Given the description of an element on the screen output the (x, y) to click on. 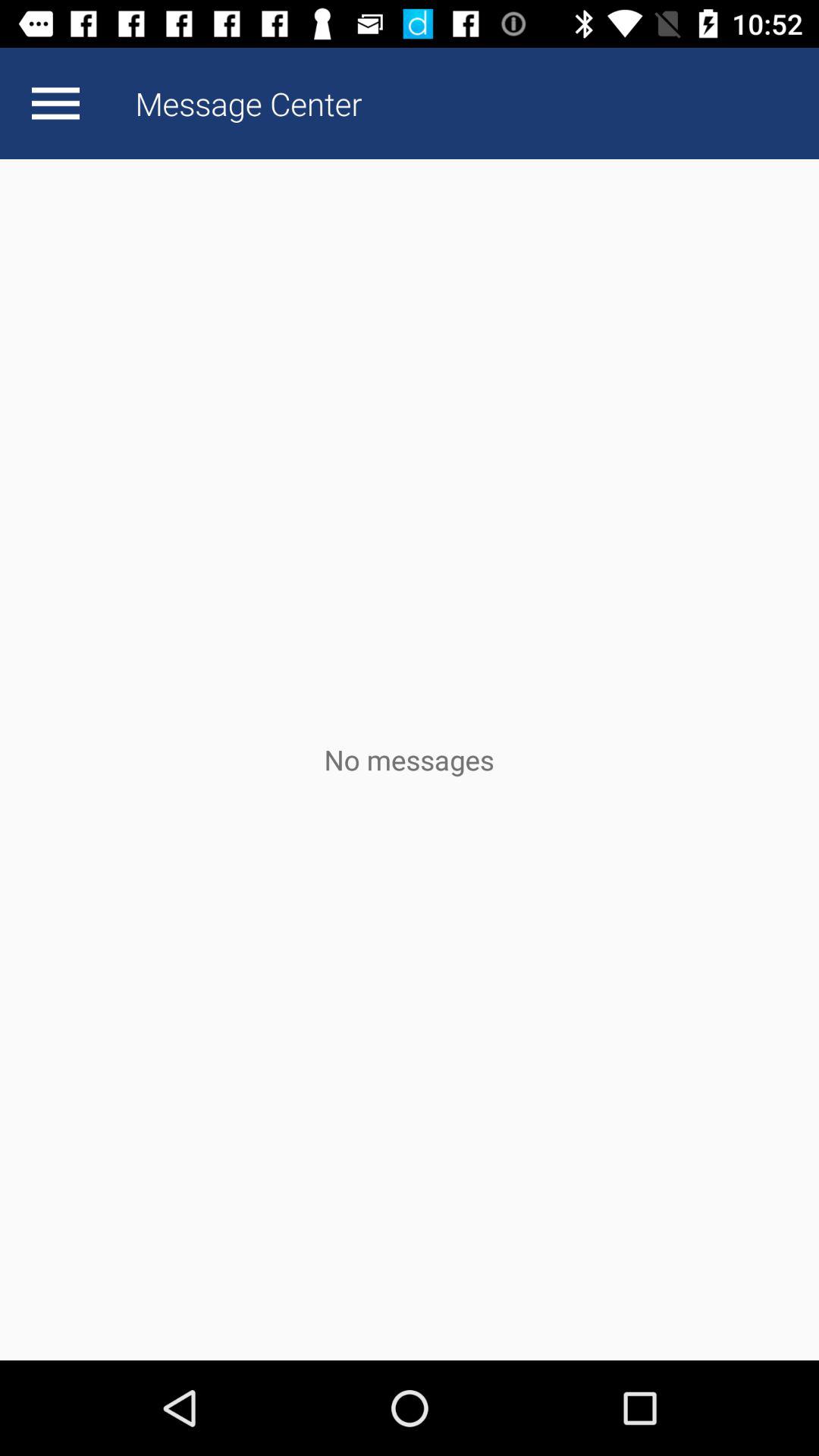
turn on icon at the top left corner (55, 103)
